Given the description of an element on the screen output the (x, y) to click on. 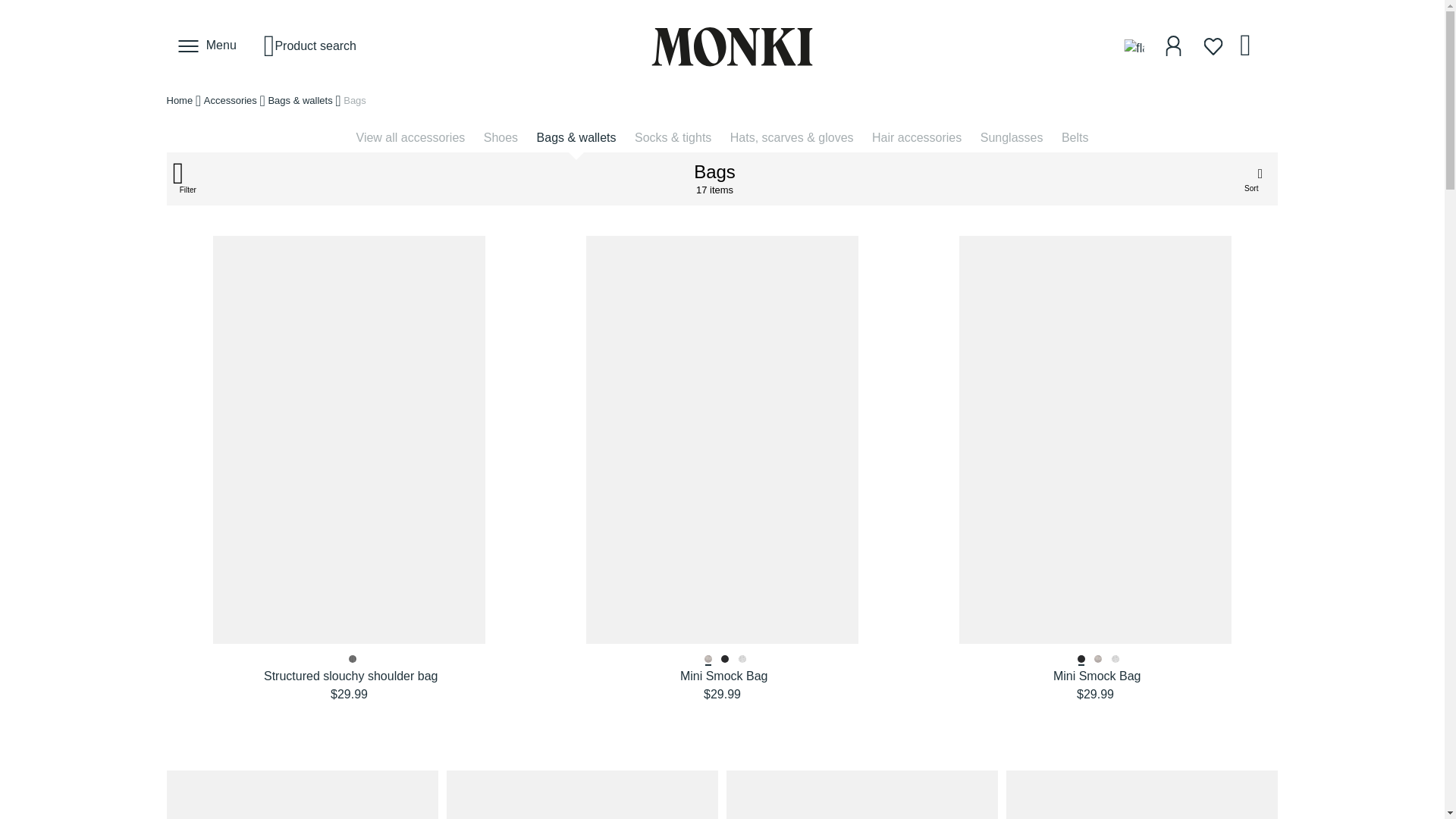
Monki Logo Medium (732, 46)
Menu (207, 45)
Monki Logo Medium (721, 46)
